Given the description of an element on the screen output the (x, y) to click on. 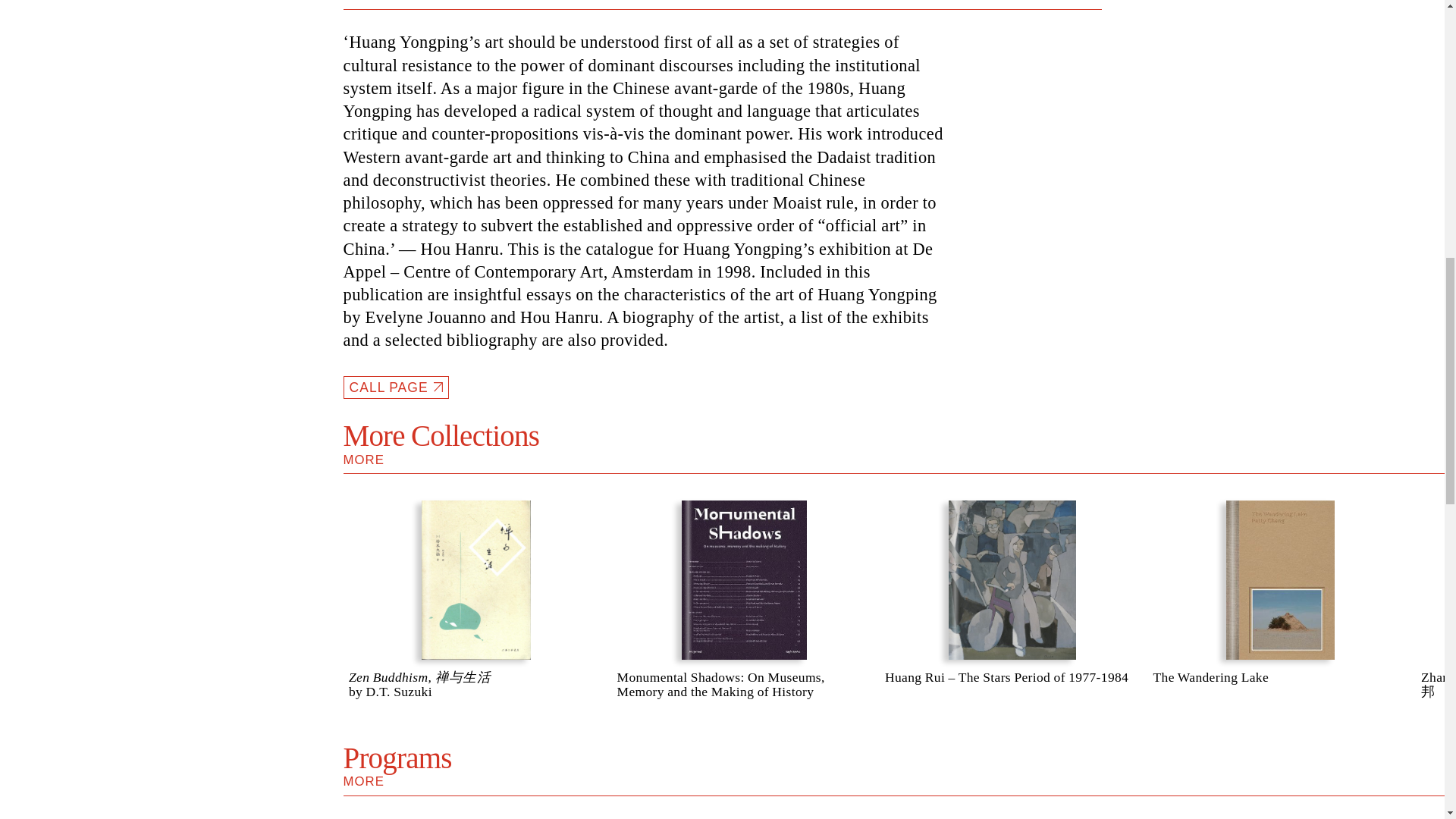
The Wandering Lake (721, 766)
